Given the description of an element on the screen output the (x, y) to click on. 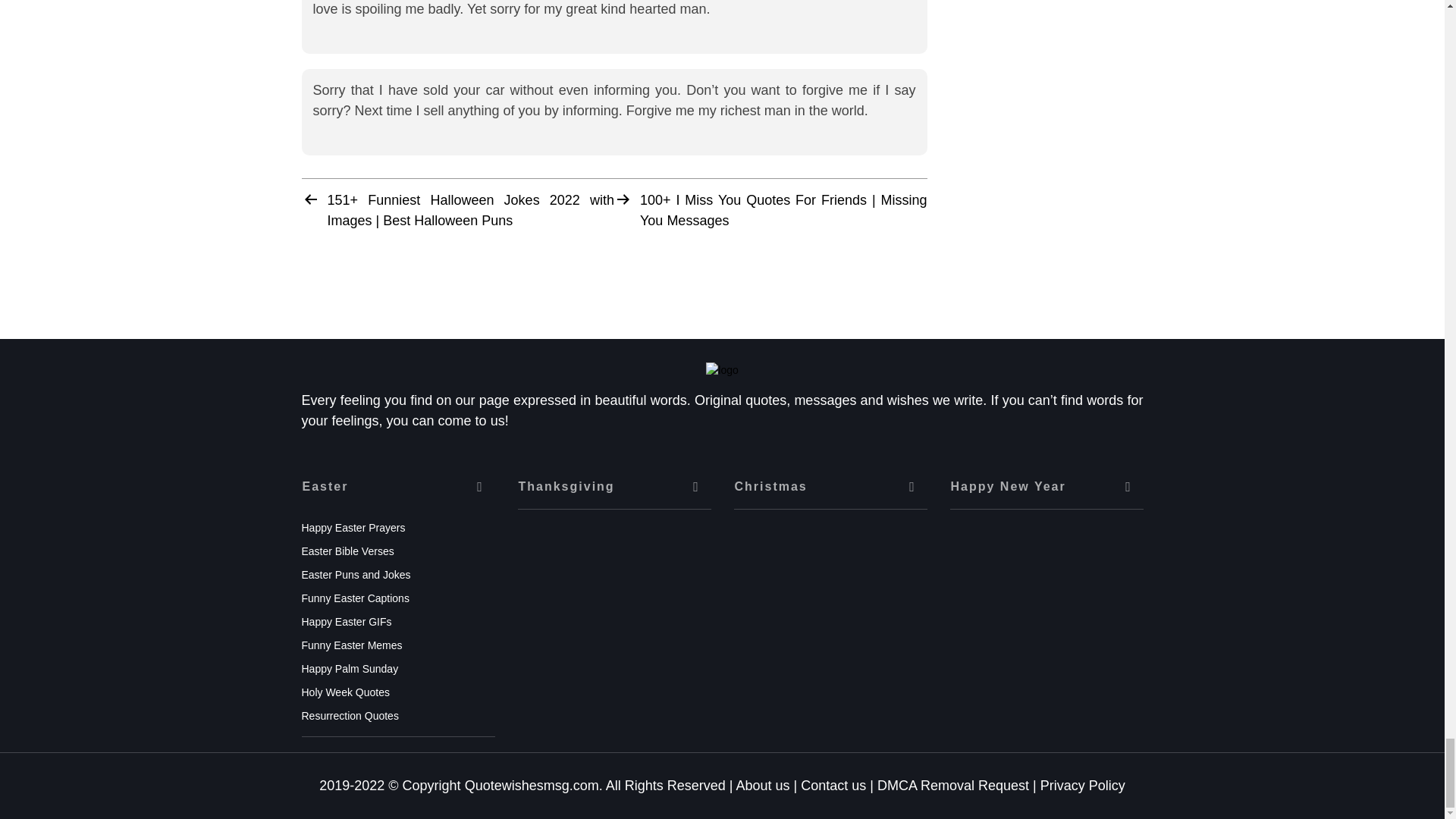
Holy Week Quotes (345, 692)
Easter Puns and Jokes (355, 574)
Funny Easter Captions (355, 598)
Funny Easter Memes (352, 645)
Easter (398, 486)
Happy Easter Prayers (353, 527)
Thanksgiving (613, 486)
Happy Palm Sunday (349, 668)
Happy Easter GIFs (346, 621)
Easter Bible Verses (347, 551)
Resurrection Quotes (349, 715)
